Given the description of an element on the screen output the (x, y) to click on. 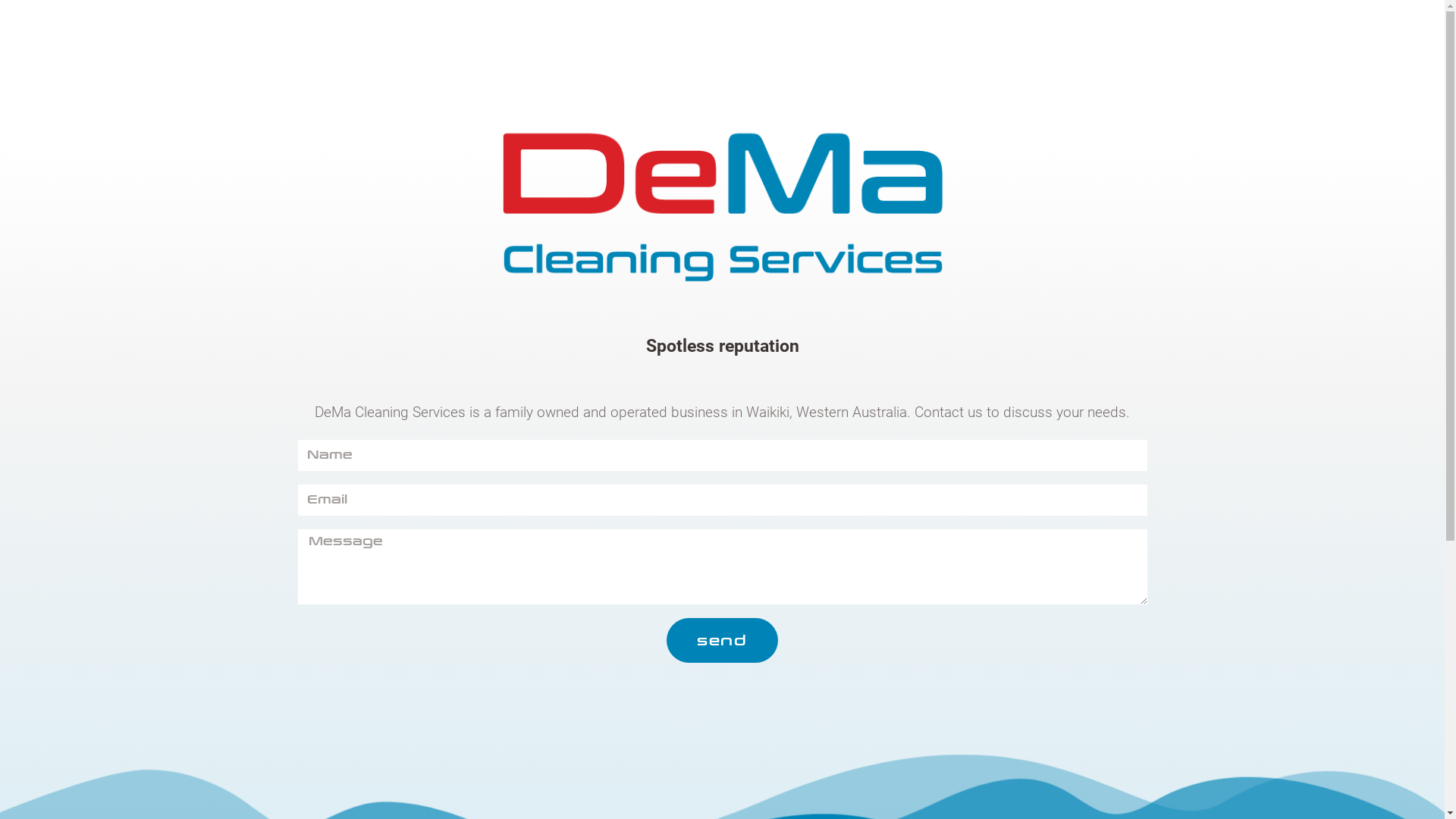
send Element type: text (722, 640)
